Given the description of an element on the screen output the (x, y) to click on. 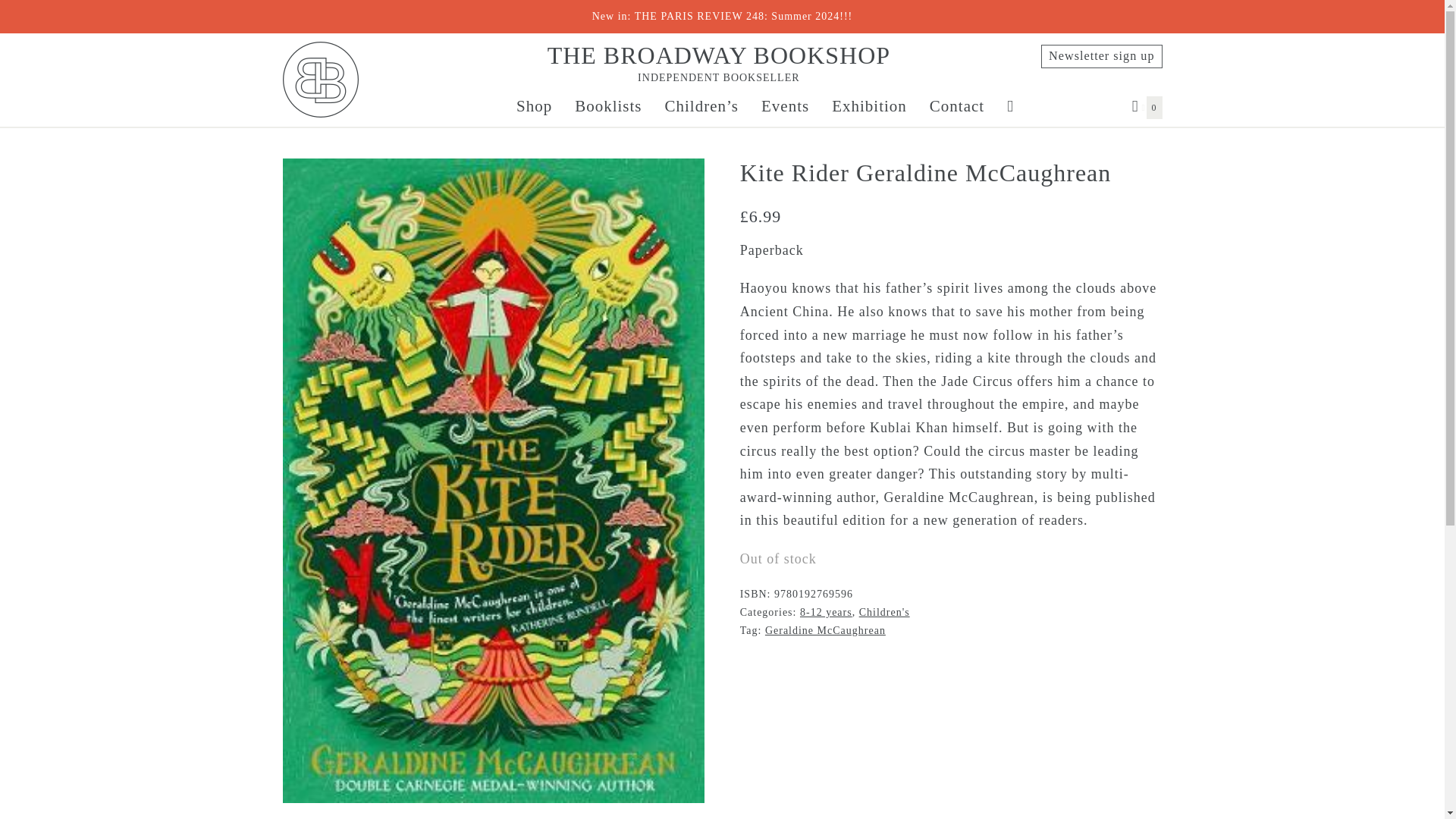
Exhibition (869, 106)
Home (718, 63)
Newsletter sign up (1101, 56)
Shopping Basket (1146, 106)
Shop (534, 106)
The Broadway Bookshop (1146, 106)
Booklists (320, 79)
Contact (607, 106)
Events (956, 106)
